Given the description of an element on the screen output the (x, y) to click on. 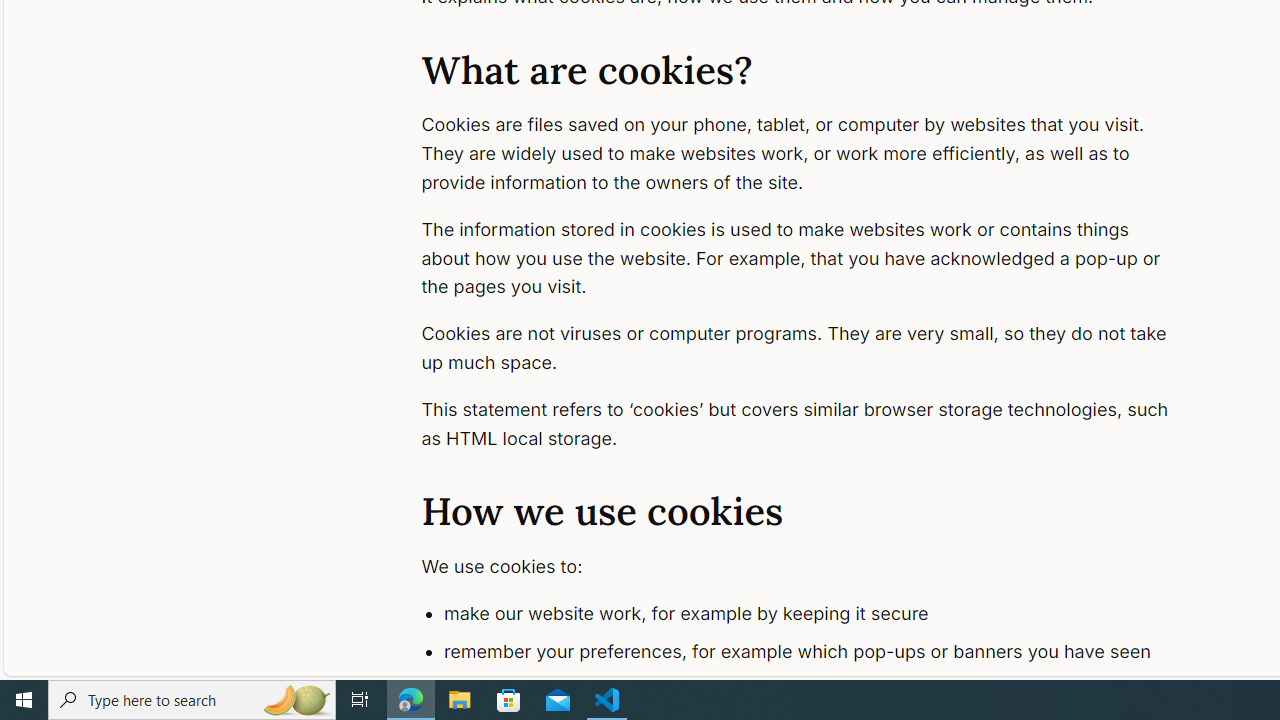
make our website work, for example by keeping it secure (818, 614)
